Given the description of an element on the screen output the (x, y) to click on. 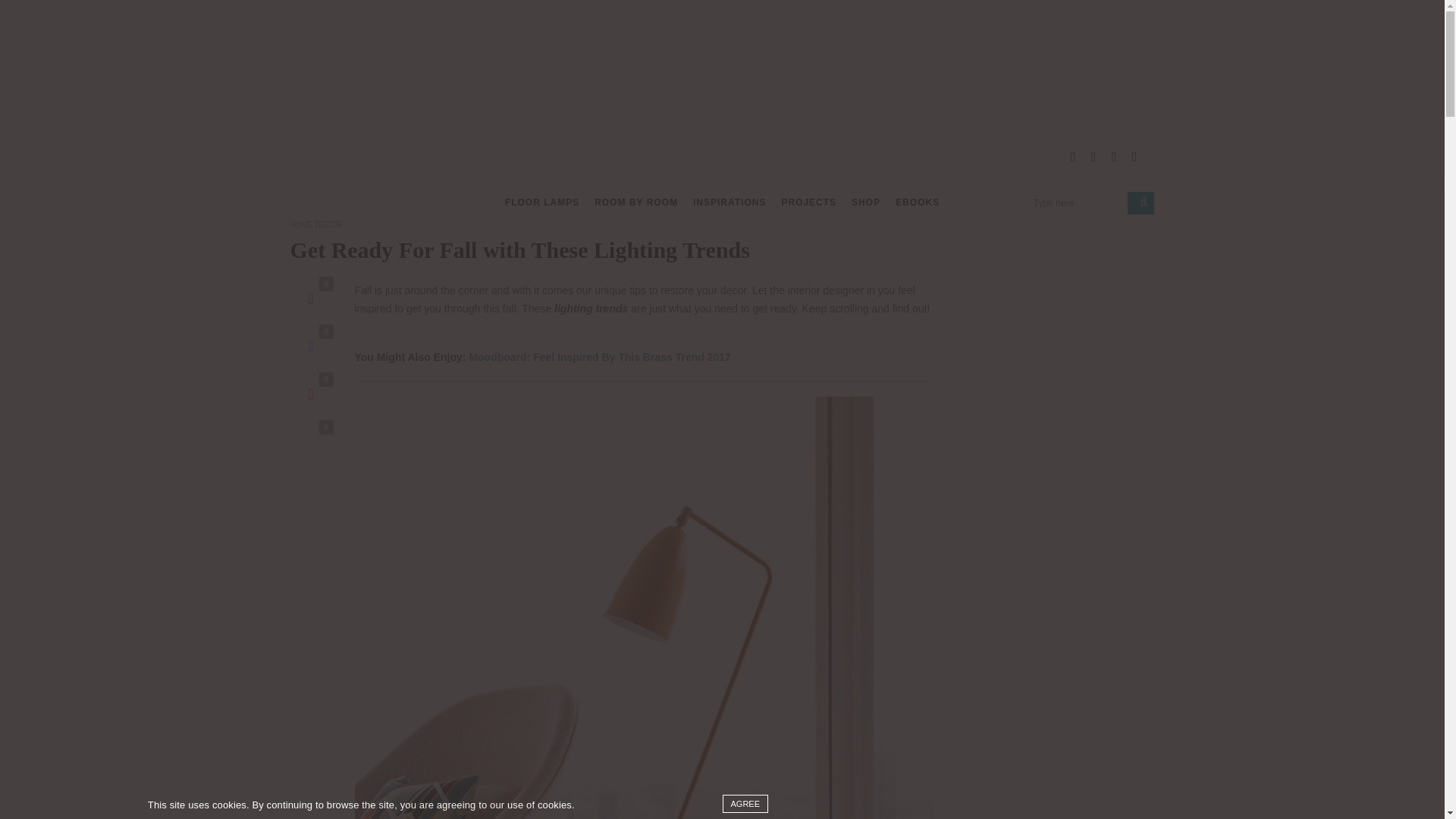
INSPIRATIONS (729, 201)
FLOOR LAMPS (542, 201)
SHOP (865, 201)
PROJECTS (807, 201)
Modern Floor Lamps (649, 156)
ROOM BY ROOM (636, 201)
EBOOKS (917, 201)
